Given the description of an element on the screen output the (x, y) to click on. 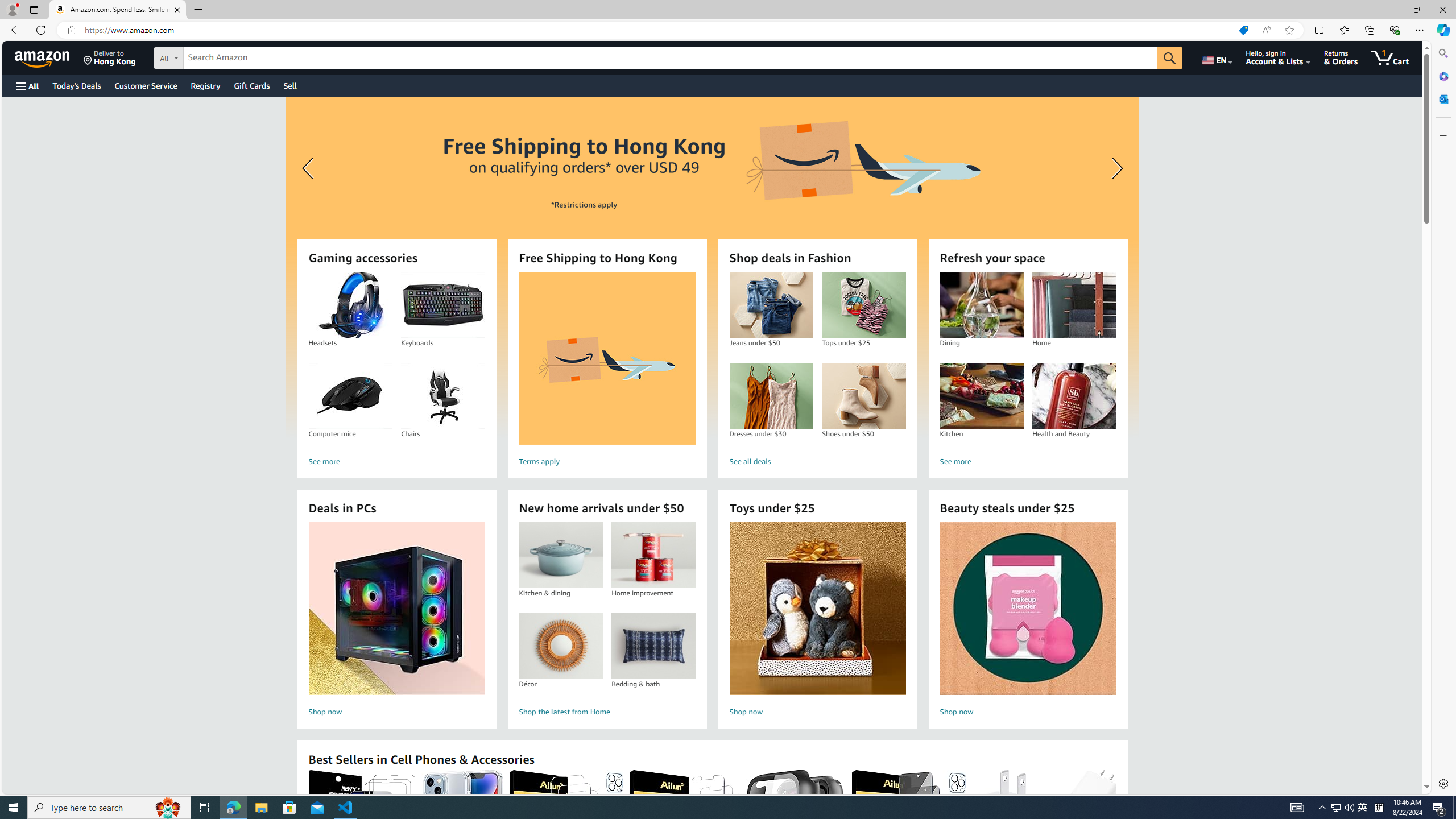
Chairs (442, 395)
Toys under $25 (818, 608)
1 item in cart (1389, 57)
Jeans under $50 (771, 304)
Dining (981, 304)
Shop the latest from Home (606, 712)
Skip to main content (48, 56)
Kitchen & dining (560, 555)
